Given the description of an element on the screen output the (x, y) to click on. 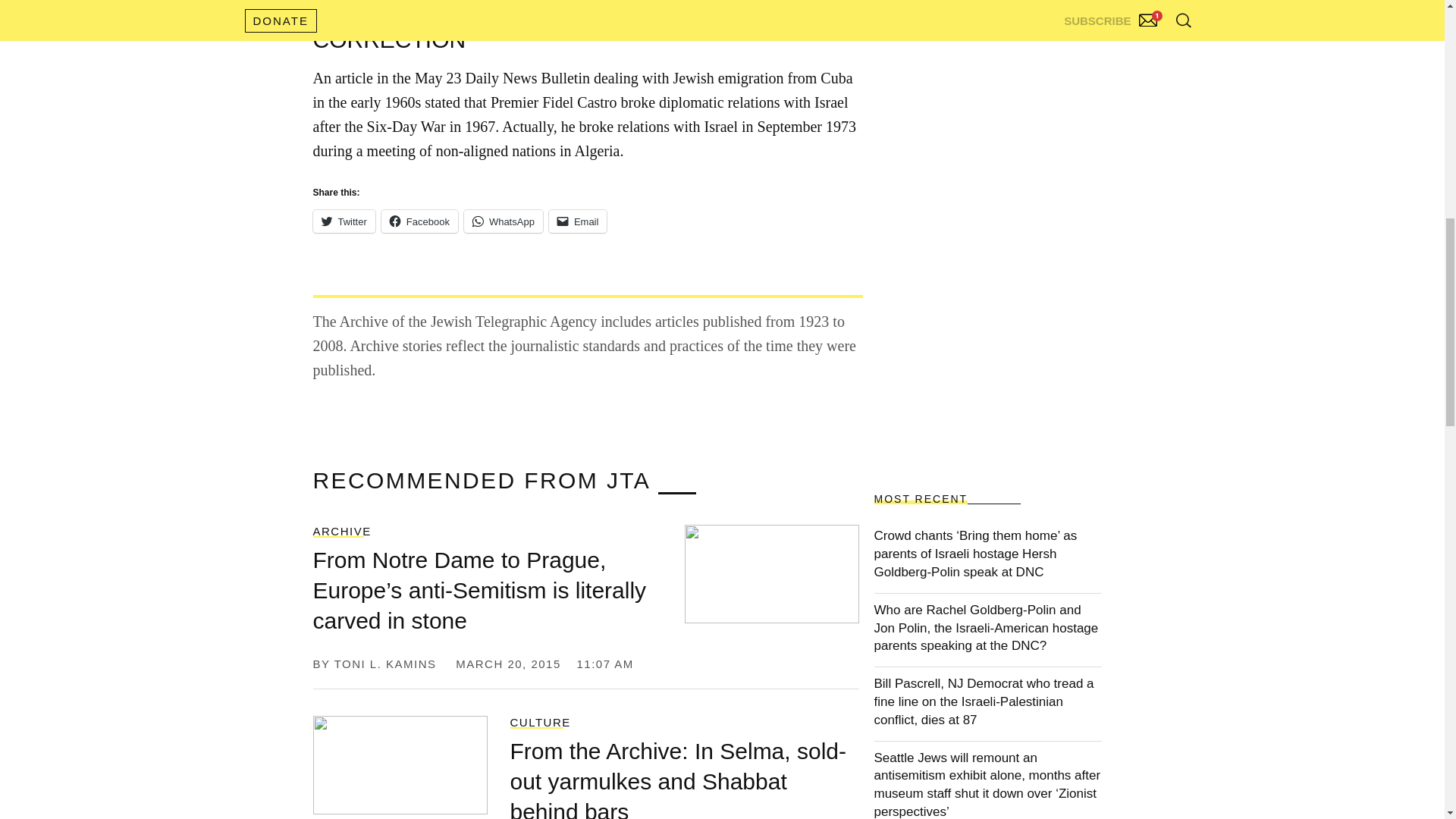
Click to share on Facebook (419, 220)
Click to email a link to a friend (577, 220)
3rd party ad content (1017, 8)
Click to share on WhatsApp (503, 220)
Click to share on Twitter (343, 220)
